Given the description of an element on the screen output the (x, y) to click on. 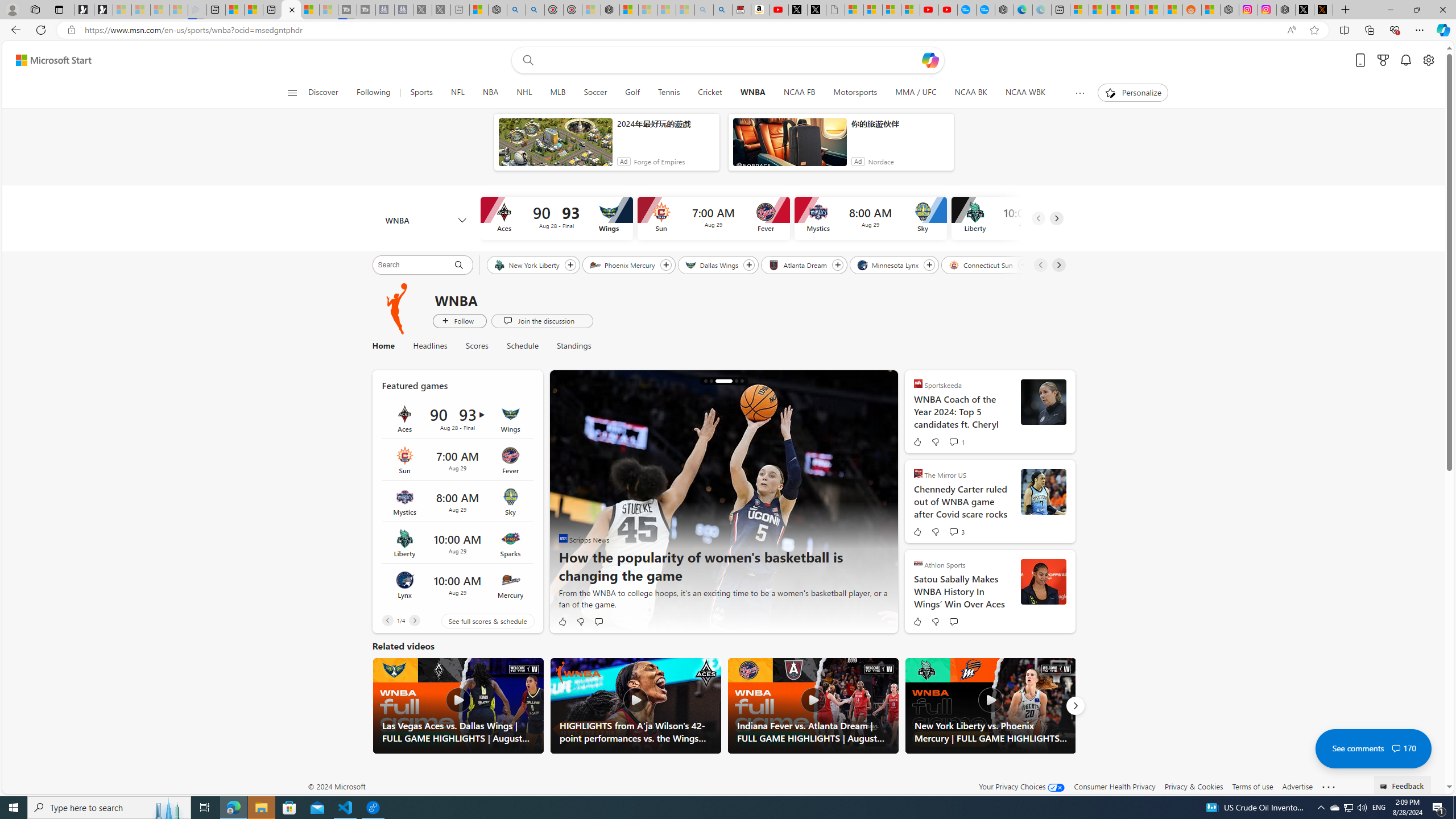
Microsoft account | Microsoft Account Privacy Settings (1079, 9)
Terms of use (1252, 786)
Advertise (1297, 785)
See comments 170 (1372, 748)
Class: feedback_link_icon-DS-EntryPoint1-1 (1384, 786)
Your Privacy Choices (1021, 786)
Sportskeeda (917, 383)
Privacy & Cookies (1193, 786)
Phoenix Mercury (622, 264)
NFL (457, 92)
NCAA FB (799, 92)
